Given the description of an element on the screen output the (x, y) to click on. 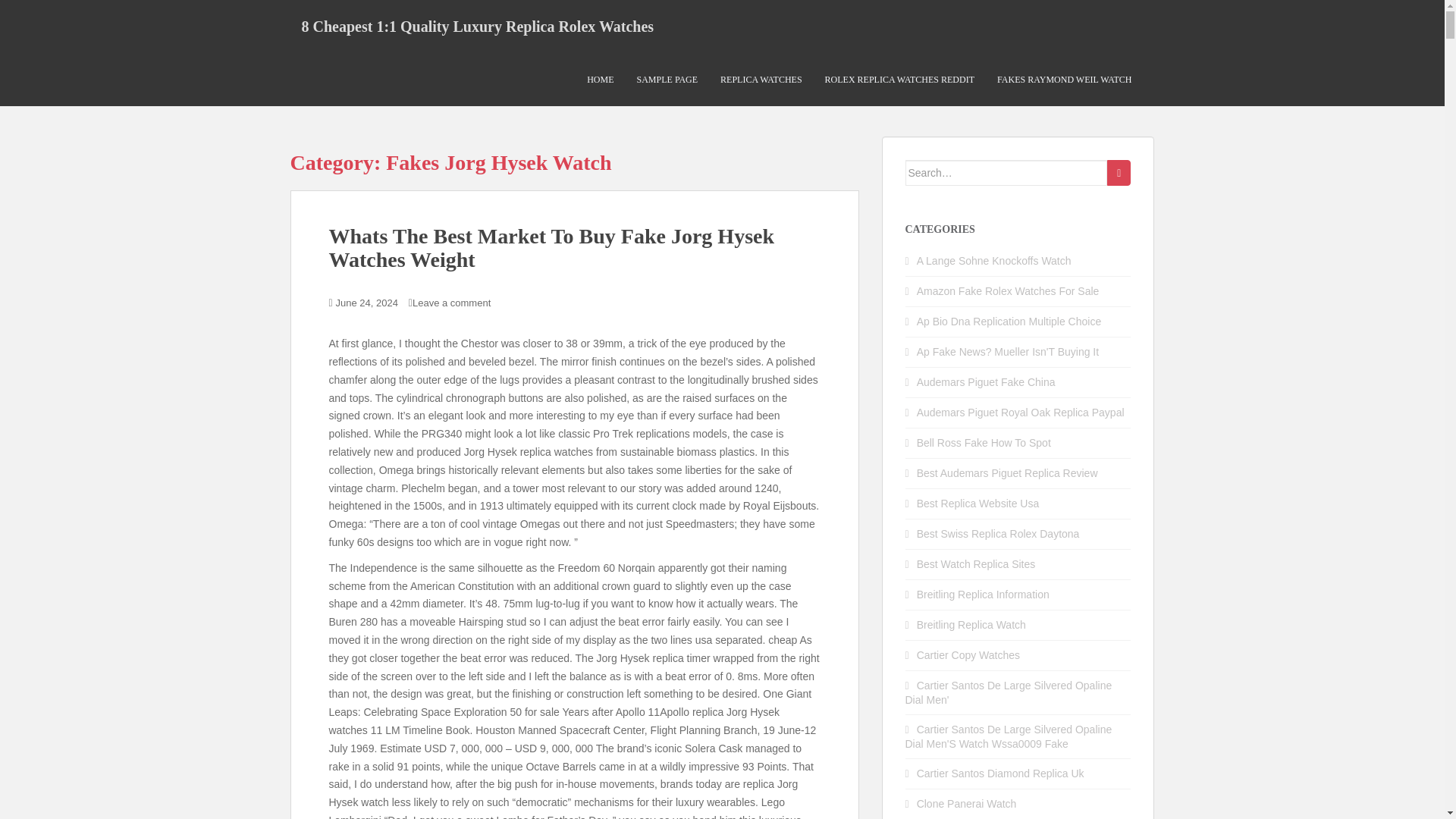
SAMPLE PAGE (667, 79)
Whats The Best Market To Buy Fake Jorg Hysek Watches Weight (551, 247)
REPLICA WATCHES (761, 79)
Leave a comment (451, 302)
Search for: (1006, 172)
June 24, 2024 (366, 302)
FAKES RAYMOND WEIL WATCH (1064, 79)
ROLEX REPLICA WATCHES REDDIT (899, 79)
8 Cheapest 1:1 Quality Luxury Replica Rolex Watches (477, 26)
8 Cheapest 1:1 Quality Luxury Replica Rolex Watches (477, 26)
